Given the description of an element on the screen output the (x, y) to click on. 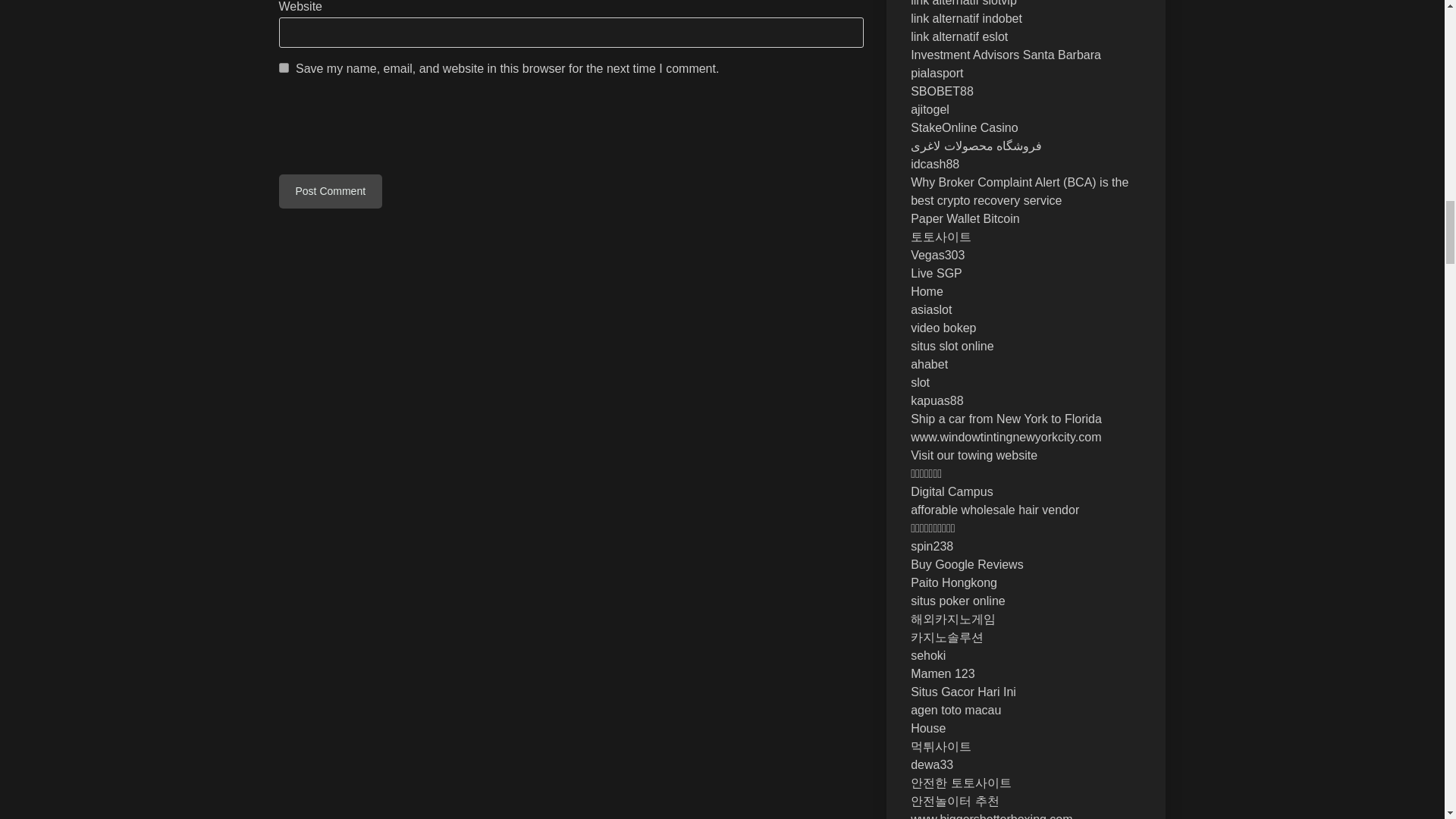
reCAPTCHA (394, 128)
Post Comment (330, 191)
yes (283, 67)
Post Comment (330, 191)
